Given the description of an element on the screen output the (x, y) to click on. 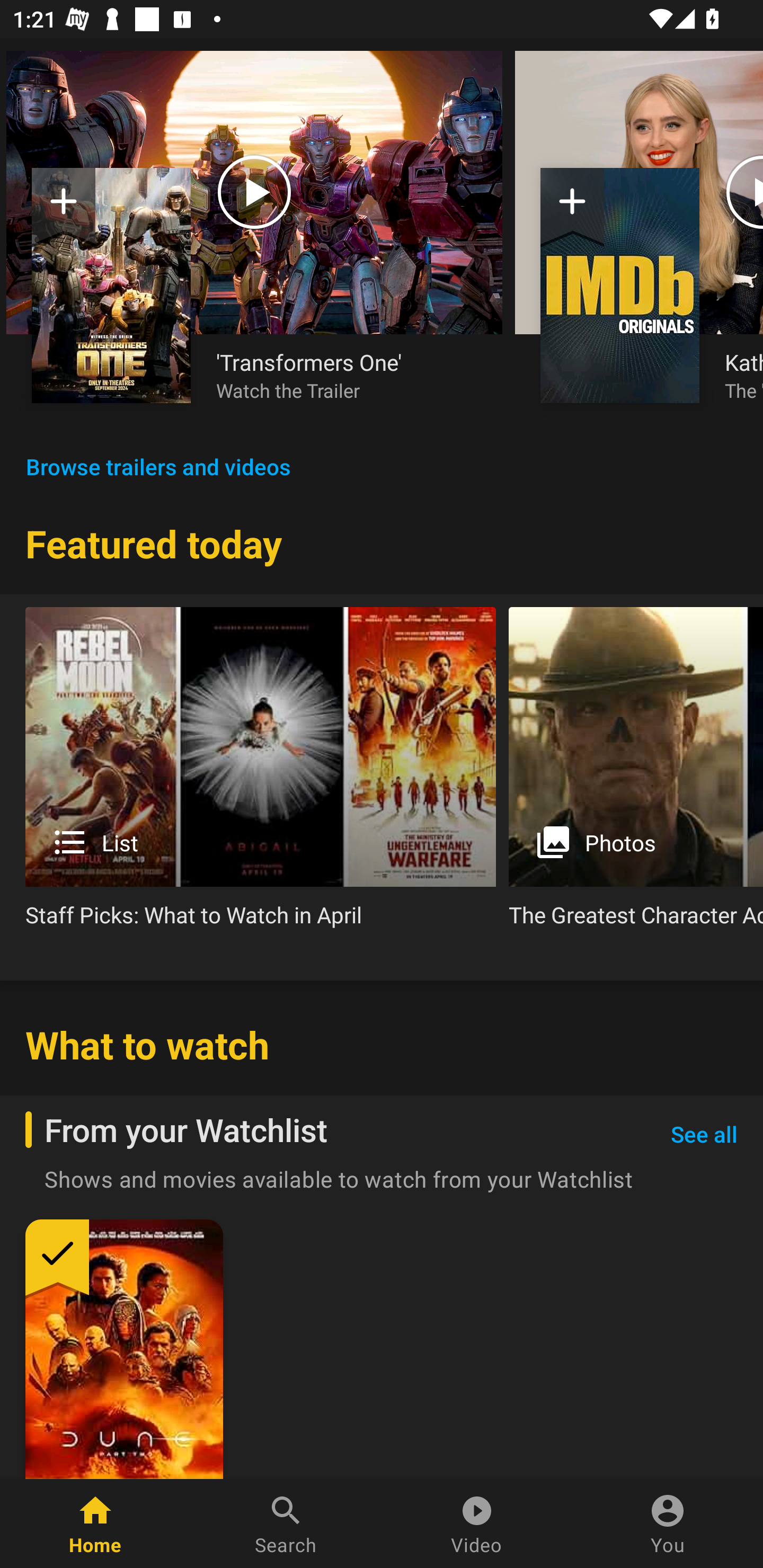
Not in watchlist (111, 284)
Not in watchlist (63, 207)
Not in watchlist (619, 284)
Not in watchlist (572, 207)
'Transformers One' Watch the Trailer (345, 374)
List Staff Picks: What to Watch in April (260, 774)
Photos The Greatest Character Actors of All Time (635, 774)
See all See all From your Watchlist (703, 1134)
Search (285, 1523)
Video (476, 1523)
You (667, 1523)
